Given the description of an element on the screen output the (x, y) to click on. 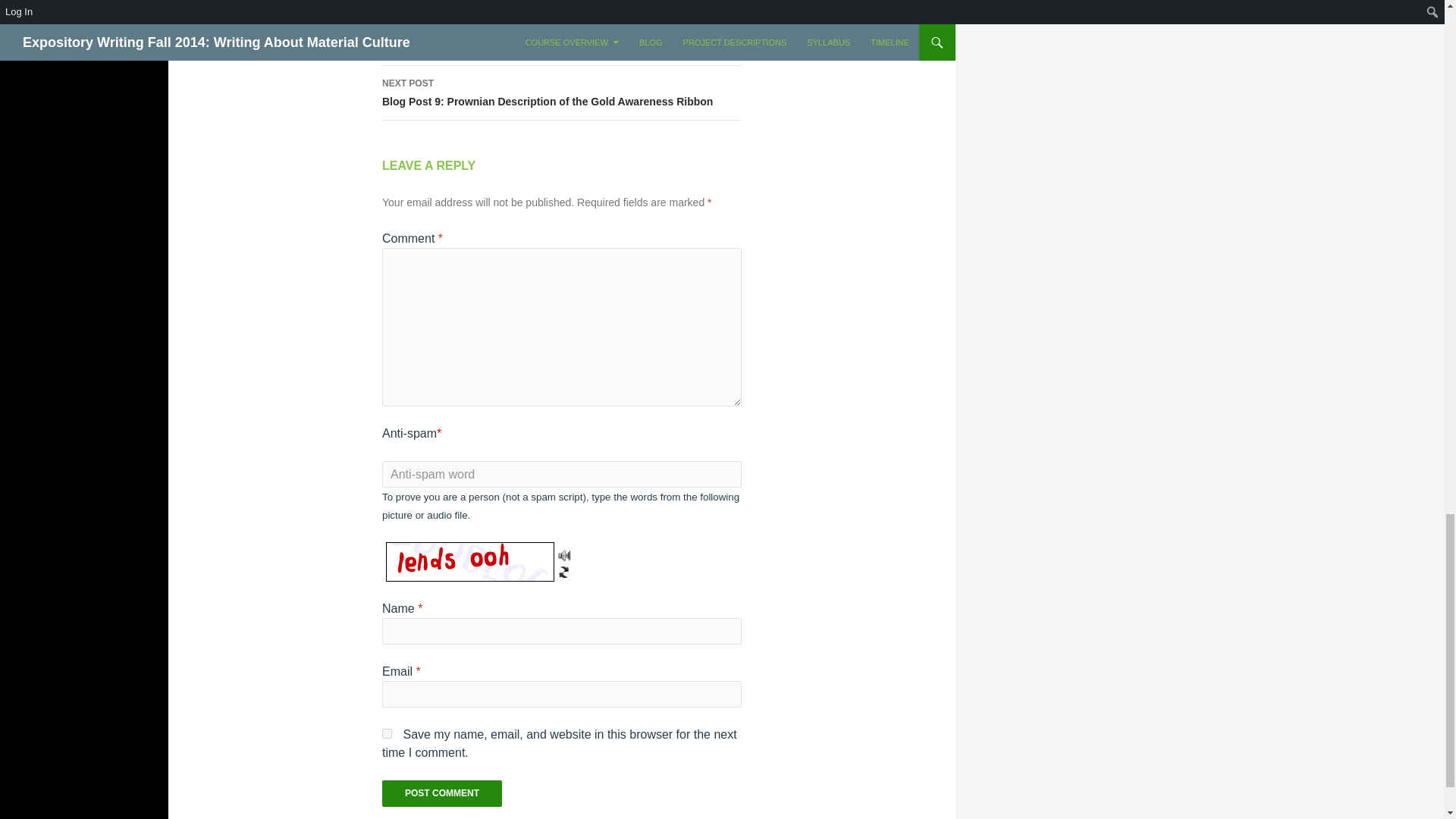
Post Comment (441, 793)
Post Comment (441, 793)
Load new (563, 567)
yes (386, 733)
Listen to the Anti-spam word (561, 38)
